Given the description of an element on the screen output the (x, y) to click on. 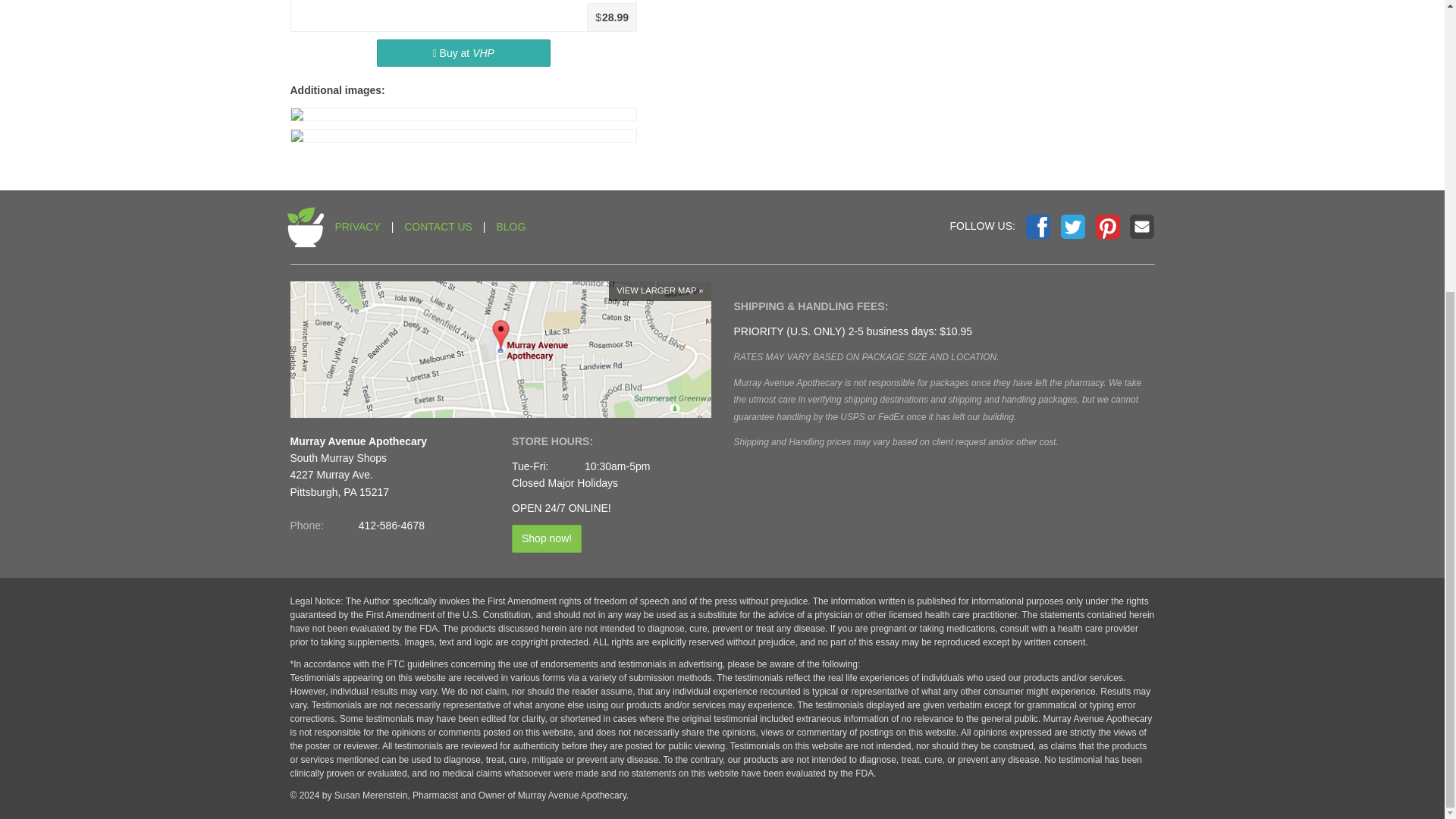
Visit us on Pinterest (1107, 226)
Visit us on Facebook (1037, 226)
Contact Us (1141, 226)
Visit us on Twitter (1072, 226)
